Given the description of an element on the screen output the (x, y) to click on. 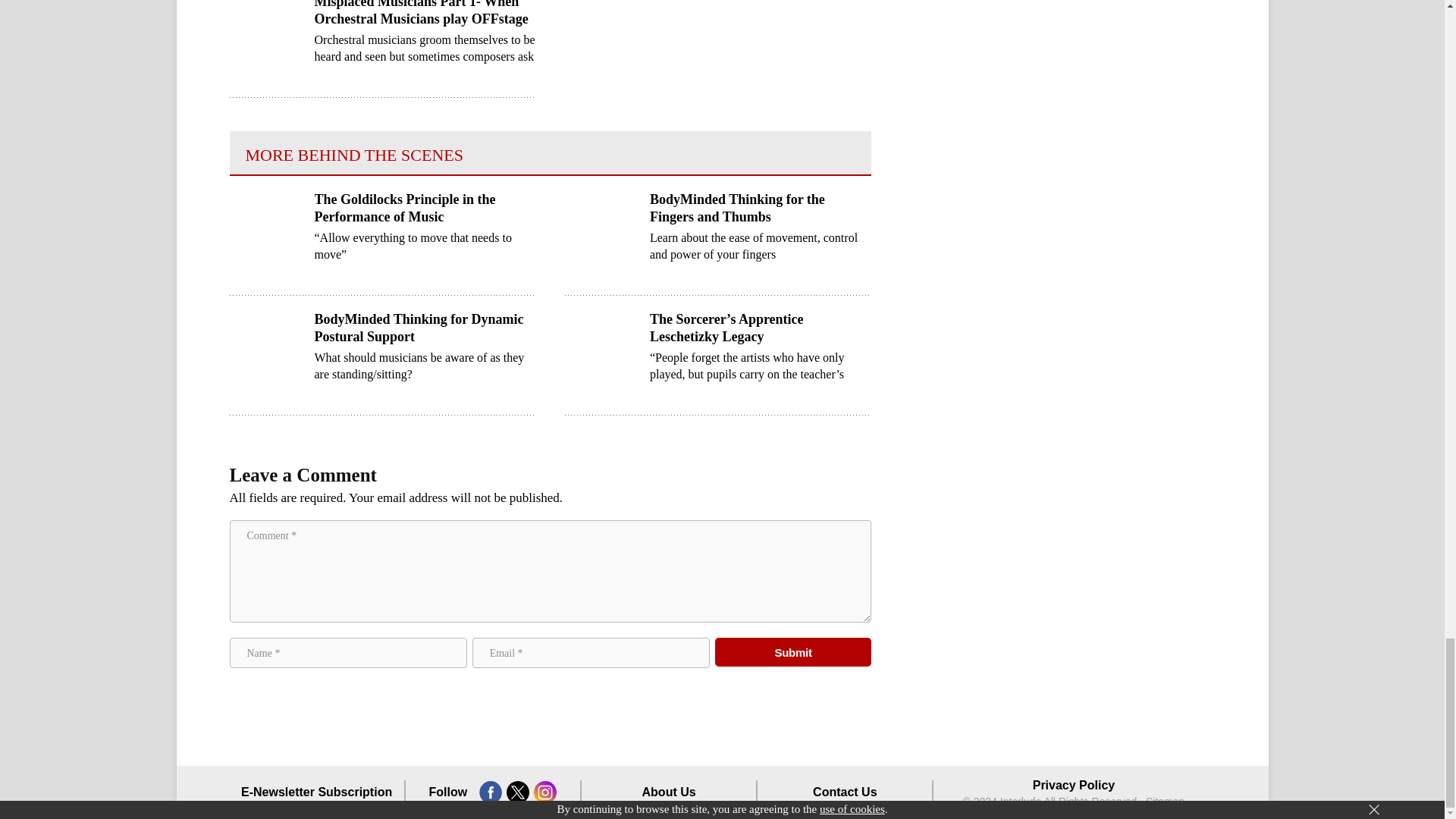
Submit (793, 652)
